Given the description of an element on the screen output the (x, y) to click on. 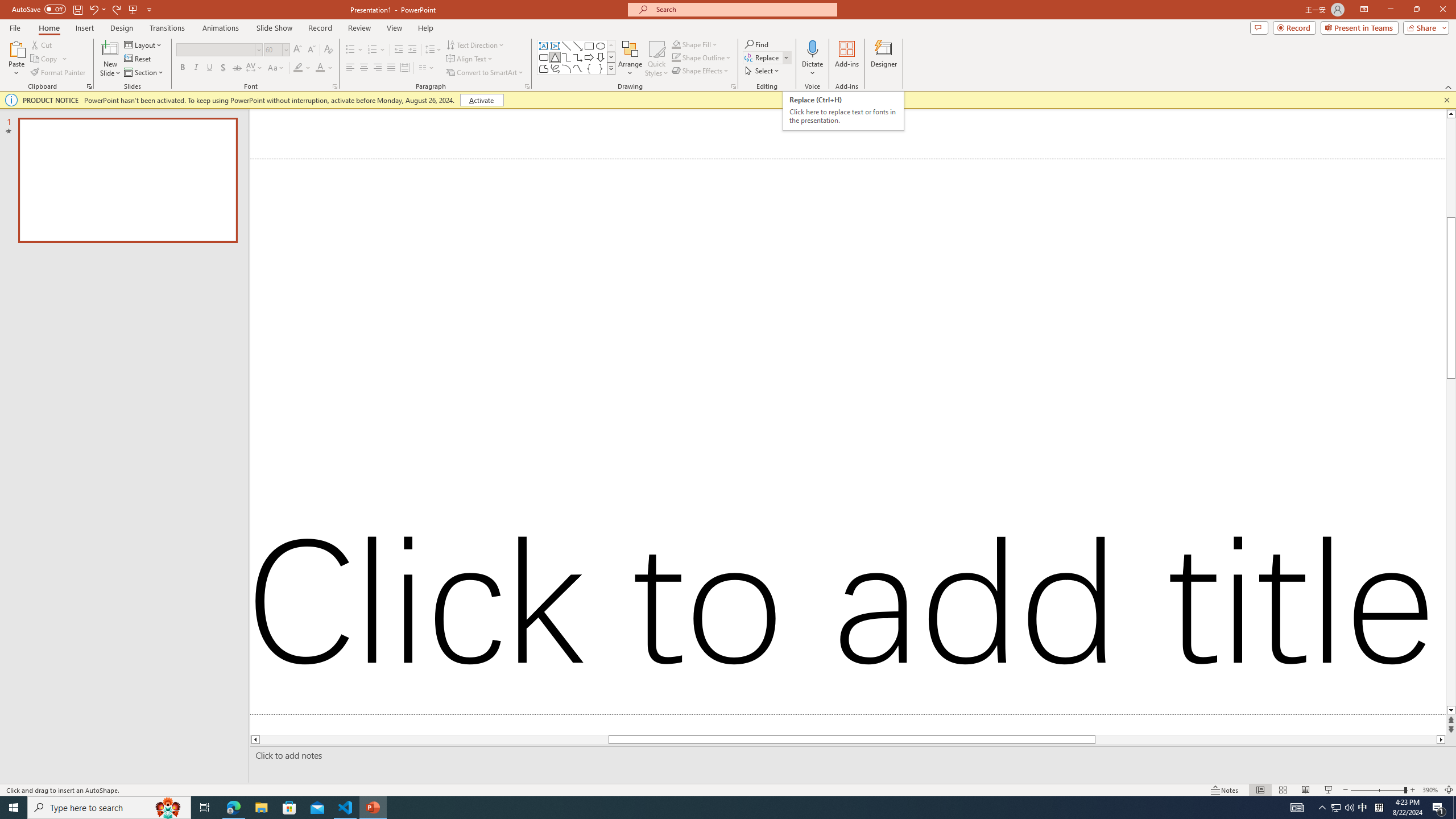
Close this message (1446, 99)
